Given the description of an element on the screen output the (x, y) to click on. 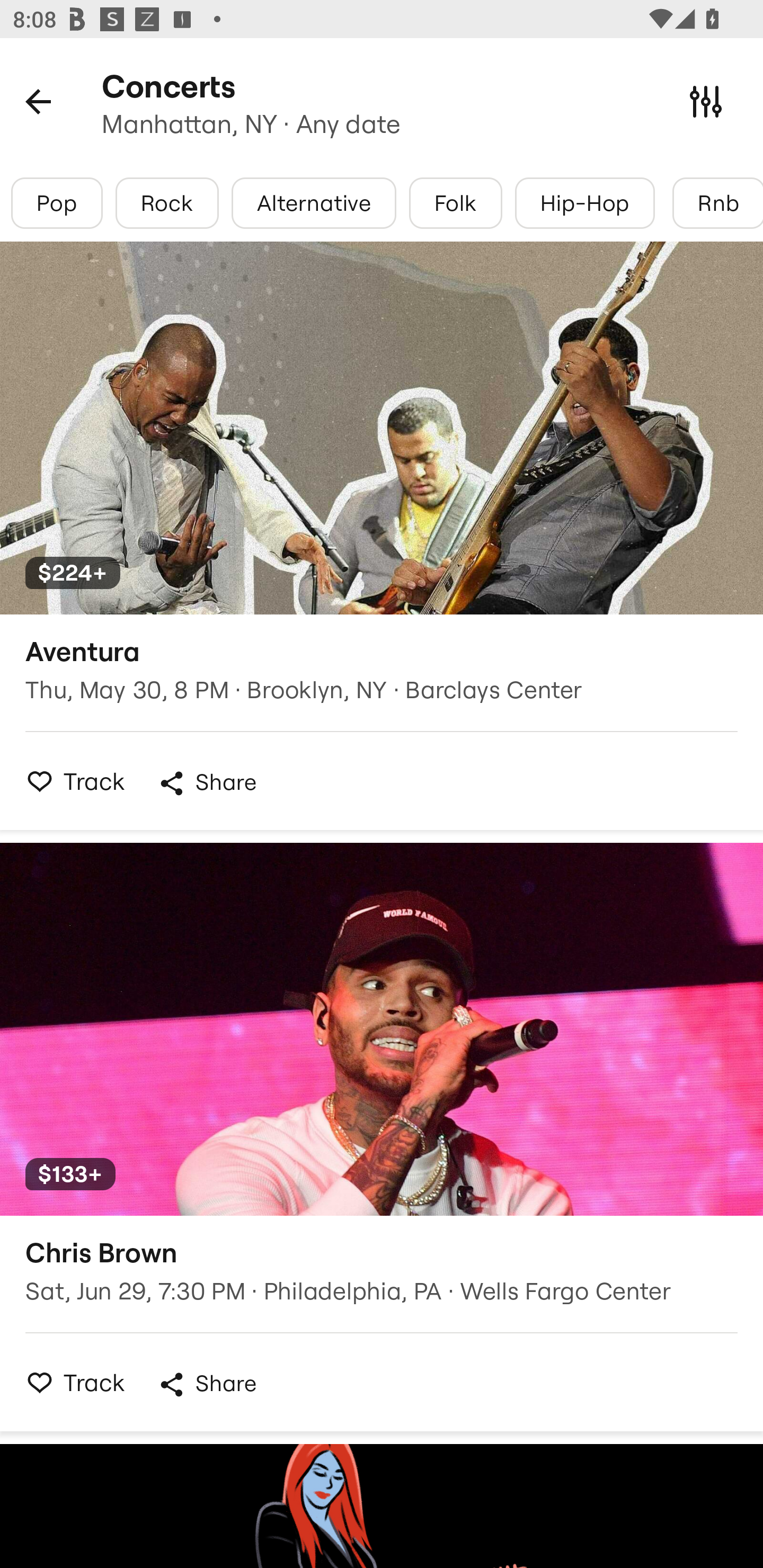
Back (38, 100)
Filters (705, 100)
Pop (57, 202)
Rock (166, 202)
Alternative (313, 202)
Folk (455, 202)
Hip-Hop (584, 202)
Rnb (717, 202)
Track (70, 780)
Share (207, 783)
Track (70, 1381)
Share (207, 1384)
